Given the description of an element on the screen output the (x, y) to click on. 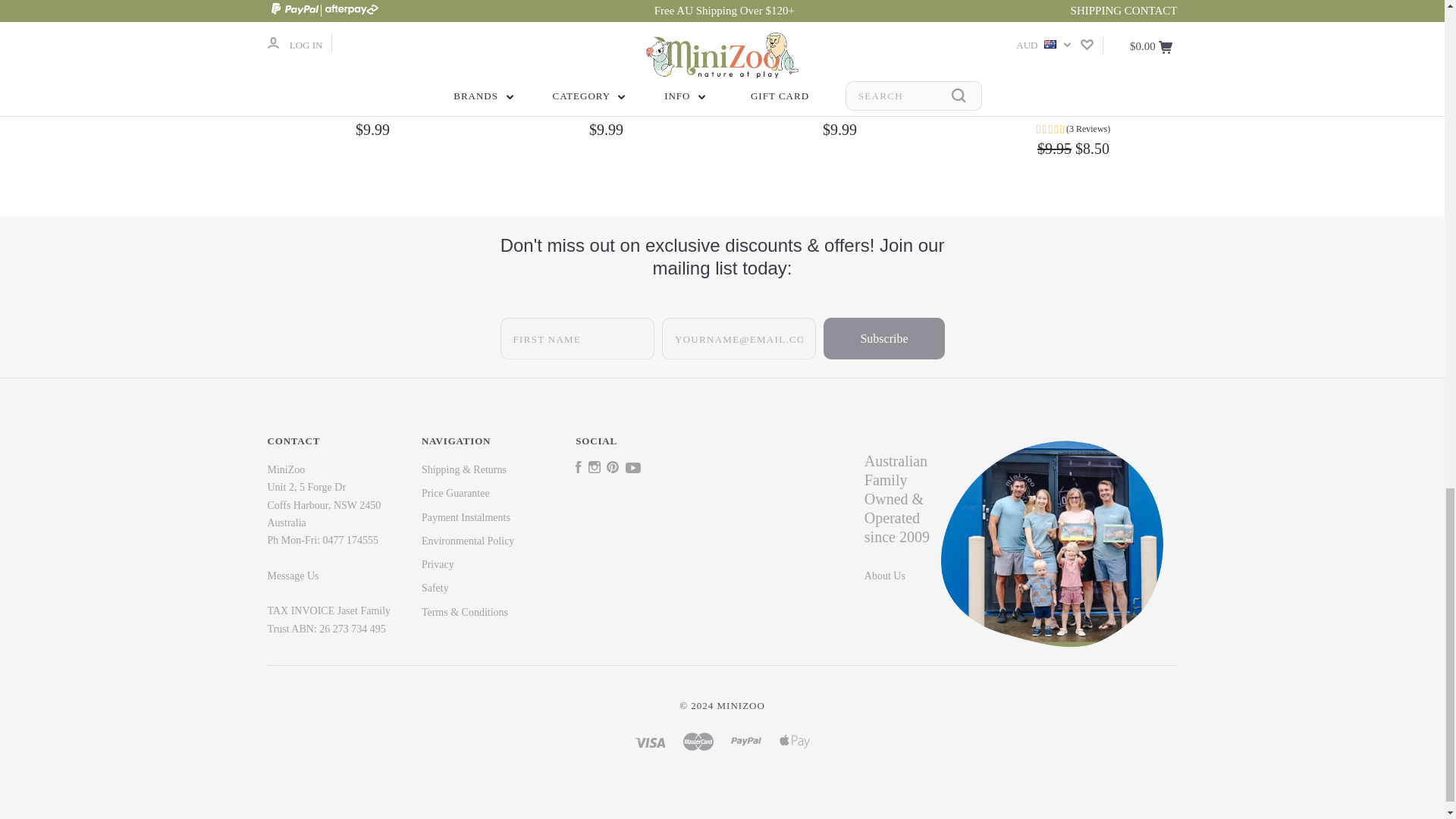
pinterest (612, 467)
Mojo Pig Sow (835, 31)
instagram (593, 467)
facebook (577, 467)
Mojo Wild Boar (368, 31)
Bullyland Pig Boar (601, 13)
5 Stars - 3 Reviews (1073, 129)
CollectA Wild Boar (1068, 31)
Facebook (577, 469)
Instagram (593, 469)
Subscribe (883, 338)
